Given the description of an element on the screen output the (x, y) to click on. 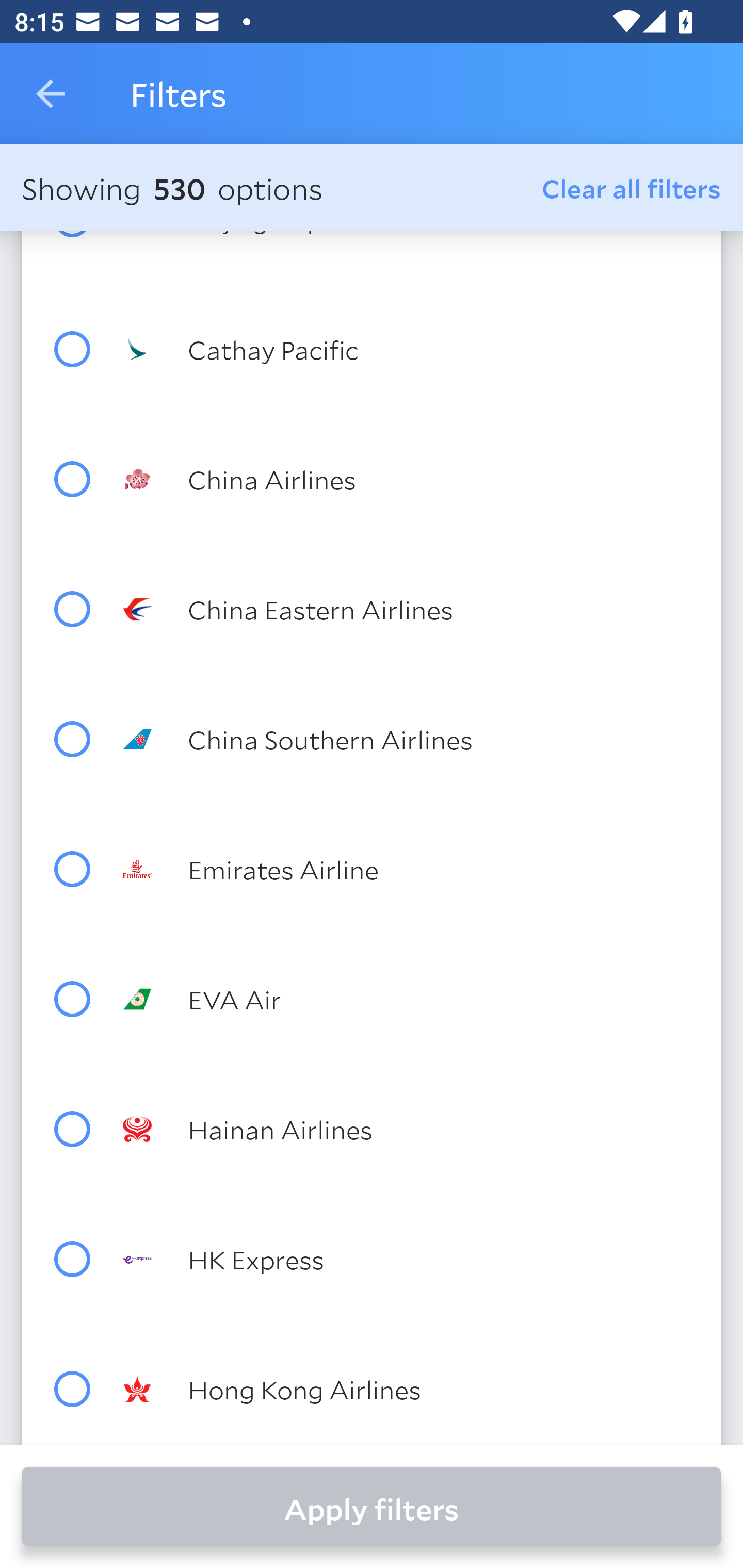
Navigate up (50, 93)
Clear all filters (631, 187)
Cathay Pacific (407, 349)
China Airlines (407, 478)
China Eastern Airlines (407, 608)
China Southern Airlines (407, 738)
Emirates Airline (407, 868)
EVA Air (407, 998)
Hainan Airlines (407, 1128)
HK Express (407, 1258)
Hong Kong Airlines (407, 1389)
Apply filters (371, 1506)
